Given the description of an element on the screen output the (x, y) to click on. 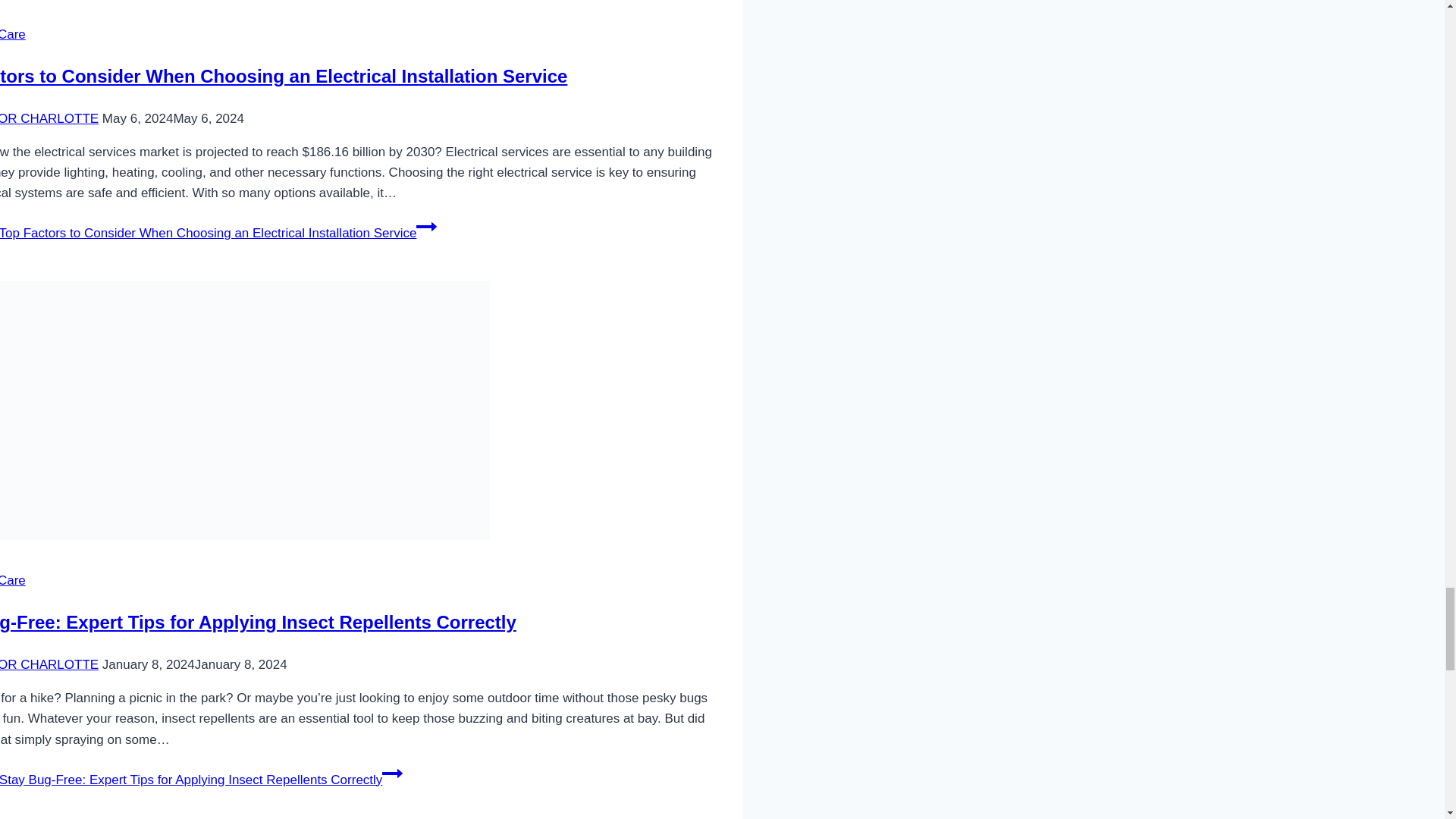
Continue (426, 226)
Continue (392, 772)
ELEAANOR CHARLOTTE (49, 118)
Safety And Care (13, 34)
